Given the description of an element on the screen output the (x, y) to click on. 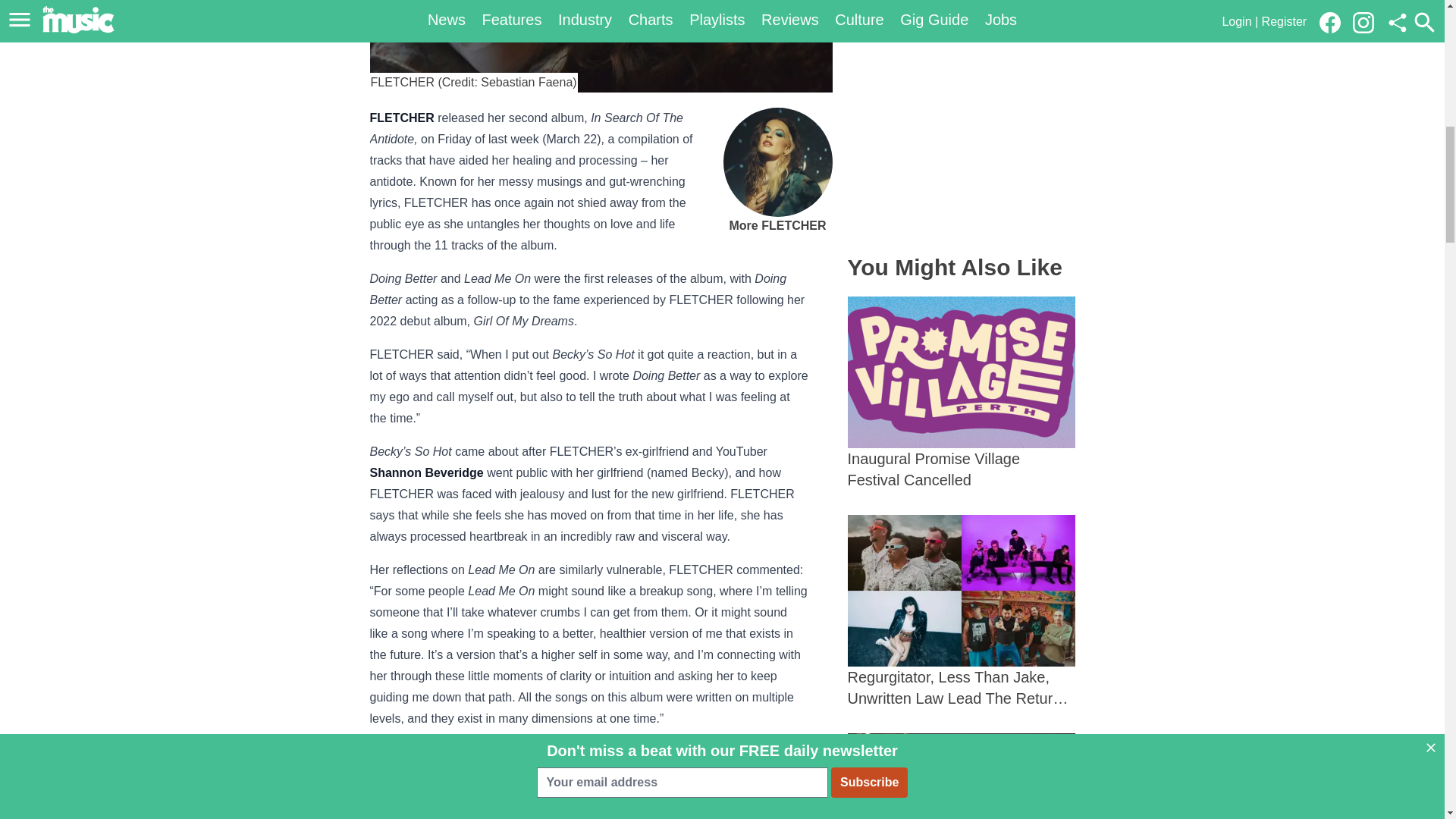
Inaugural Promise Village Festival Cancelled (961, 393)
